Given the description of an element on the screen output the (x, y) to click on. 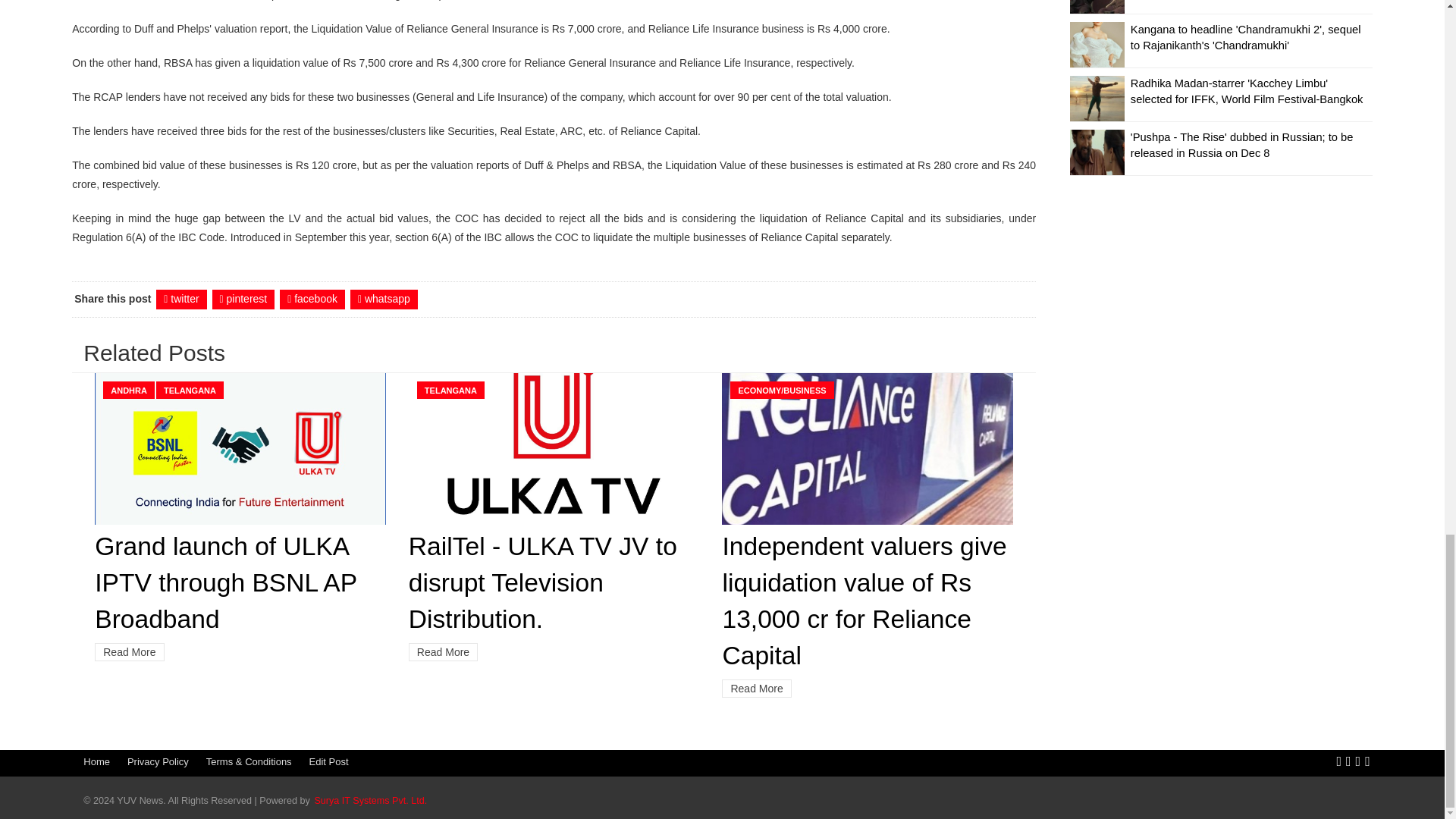
Grand launch of ULKA IPTV through BSNL AP Broadband (225, 582)
Read More (128, 651)
pinterest (243, 299)
twitter (180, 299)
TELANGANA (189, 389)
whatsapp (383, 299)
Read More (756, 688)
ANDHRA (128, 389)
RailTel - ULKA TV JV to disrupt Television Distribution. (543, 582)
